Given the description of an element on the screen output the (x, y) to click on. 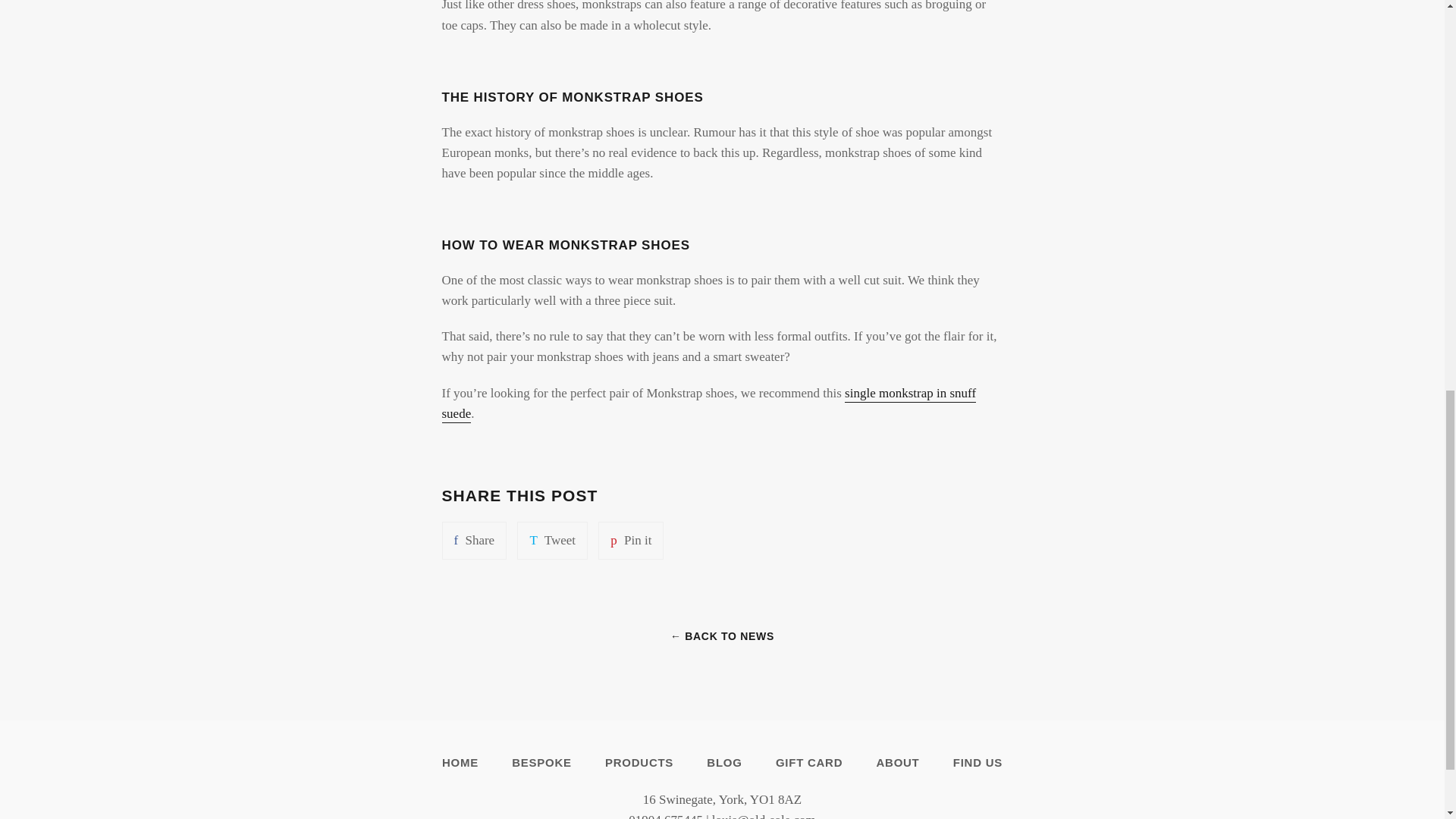
BLOG (473, 539)
GIFT CARD (724, 762)
HOME (552, 539)
PRODUCTS (808, 762)
Tweet on Twitter (459, 762)
Share on Facebook (638, 762)
ABOUT (630, 539)
